Given the description of an element on the screen output the (x, y) to click on. 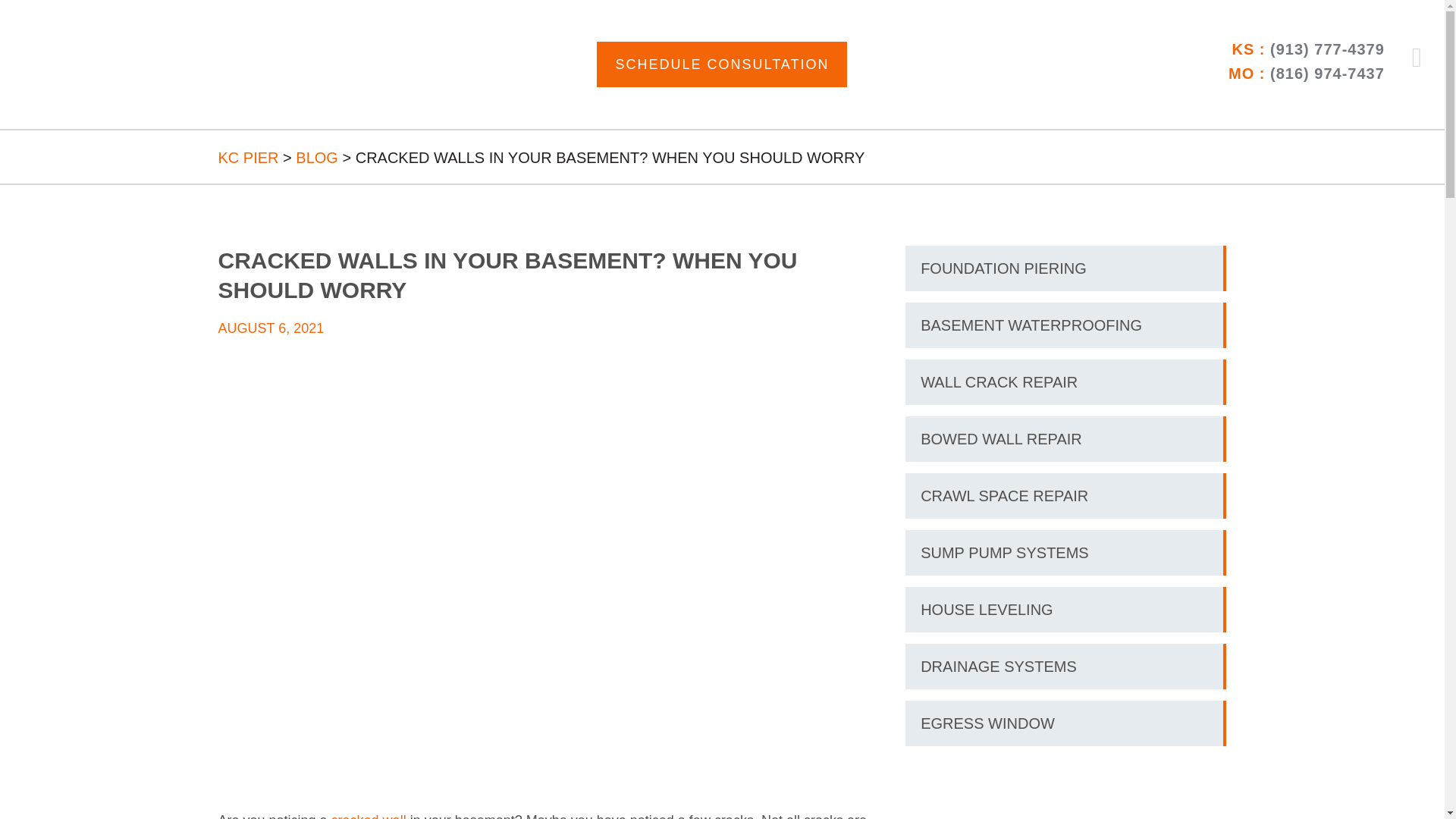
BOWED WALL REPAIR (1064, 438)
KC PIER (248, 157)
WALL CRACK REPAIR (1064, 381)
BLOG (316, 157)
Go to KC Pier. (248, 157)
FOUNDATION PIERING (1064, 268)
SCHEDULE CONSULTATION (721, 64)
BASEMENT WATERPROOFING (1064, 325)
cracked wall (368, 816)
Go to the Blog category archives. (316, 157)
